Given the description of an element on the screen output the (x, y) to click on. 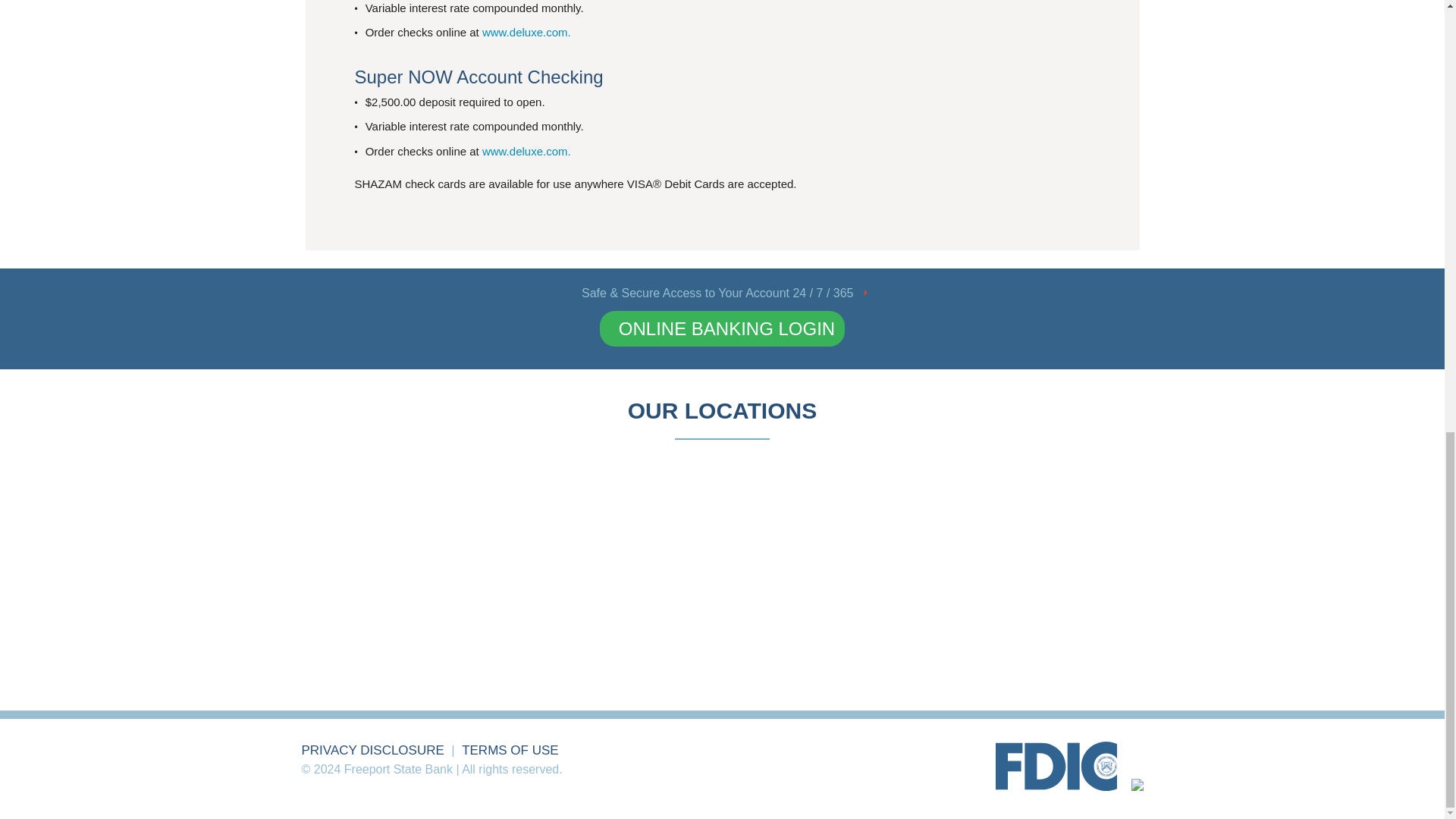
www.deluxe.com. (525, 151)
www.deluxe.com. (525, 31)
ONLINE BANKING LOGIN (721, 329)
